Given the description of an element on the screen output the (x, y) to click on. 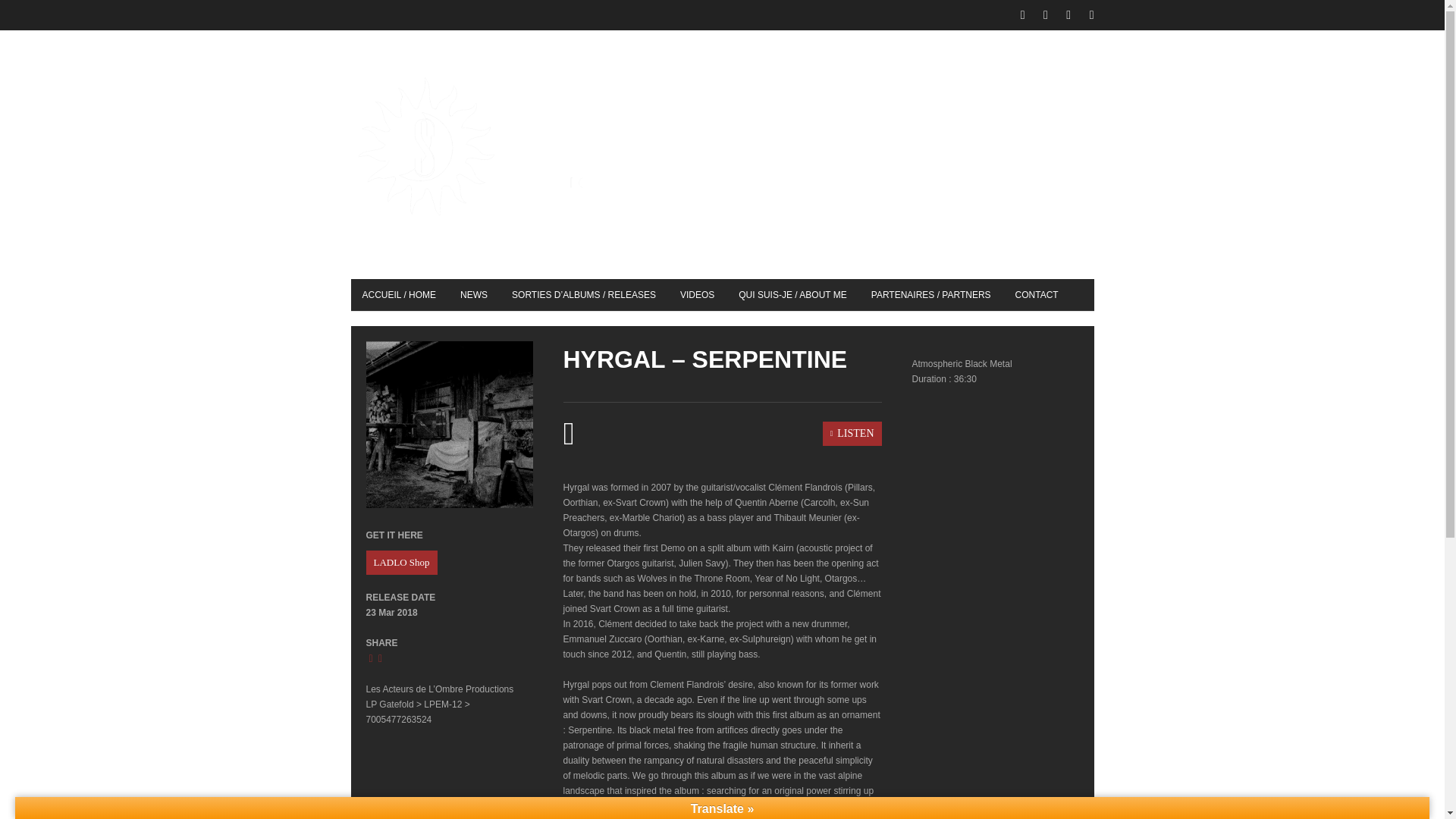
LADLO Shop (400, 562)
VIDEOS (696, 295)
CONTACT (1037, 295)
NEWS (473, 295)
LISTEN (721, 433)
